Given the description of an element on the screen output the (x, y) to click on. 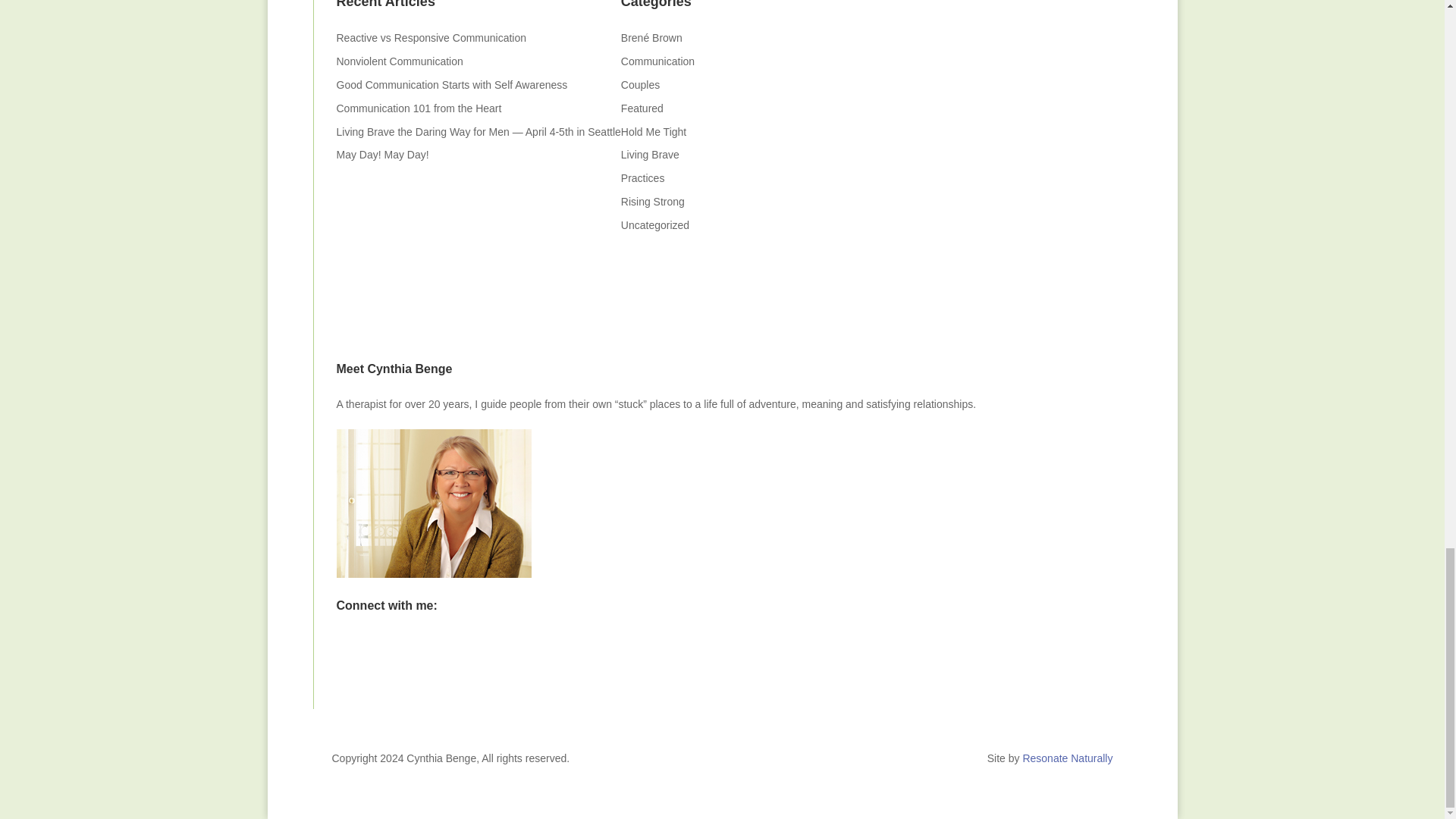
Couples (640, 84)
Nonviolent Communication (399, 61)
Communication (657, 61)
Rising Strong (652, 201)
Living Brave (650, 154)
Reactive vs Responsive Communication  (432, 37)
Hold Me Tight (653, 132)
May Day! May Day! (382, 154)
Communication 101 from the Heart (419, 108)
Good Communication Starts with Self Awareness (451, 84)
